Given the description of an element on the screen output the (x, y) to click on. 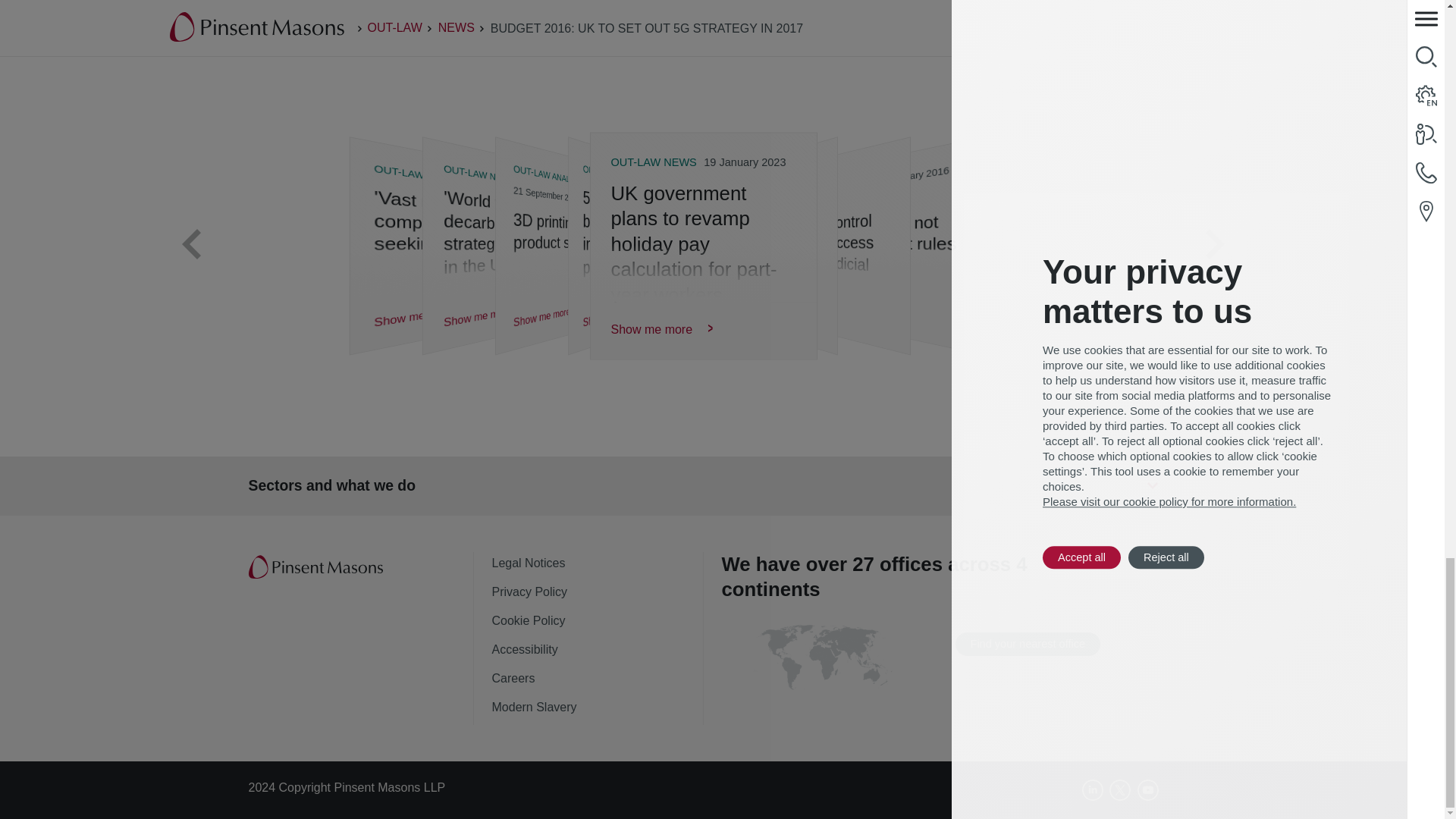
Pinsent Masons (316, 567)
Pinsent Masons LinkedIn (1092, 789)
Pinsent Masons Twitter (1120, 789)
